Given the description of an element on the screen output the (x, y) to click on. 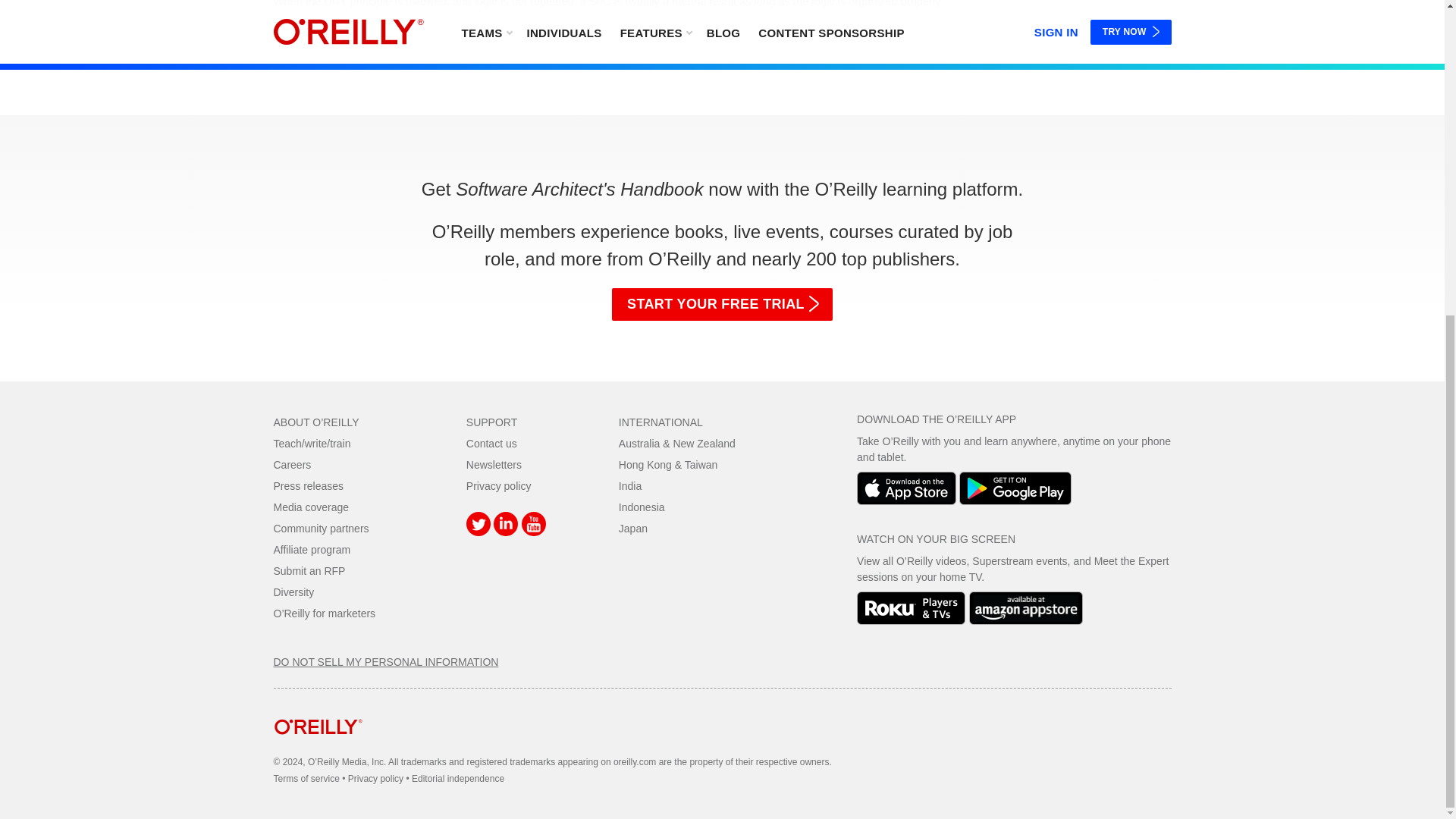
Privacy policy (498, 485)
Press releases (308, 485)
Newsletters (493, 464)
Affiliate program (311, 549)
Community partners (320, 528)
home page (317, 745)
Media coverage (311, 507)
Careers (292, 464)
Diversity (293, 592)
START YOUR FREE TRIAL (721, 304)
